Given the description of an element on the screen output the (x, y) to click on. 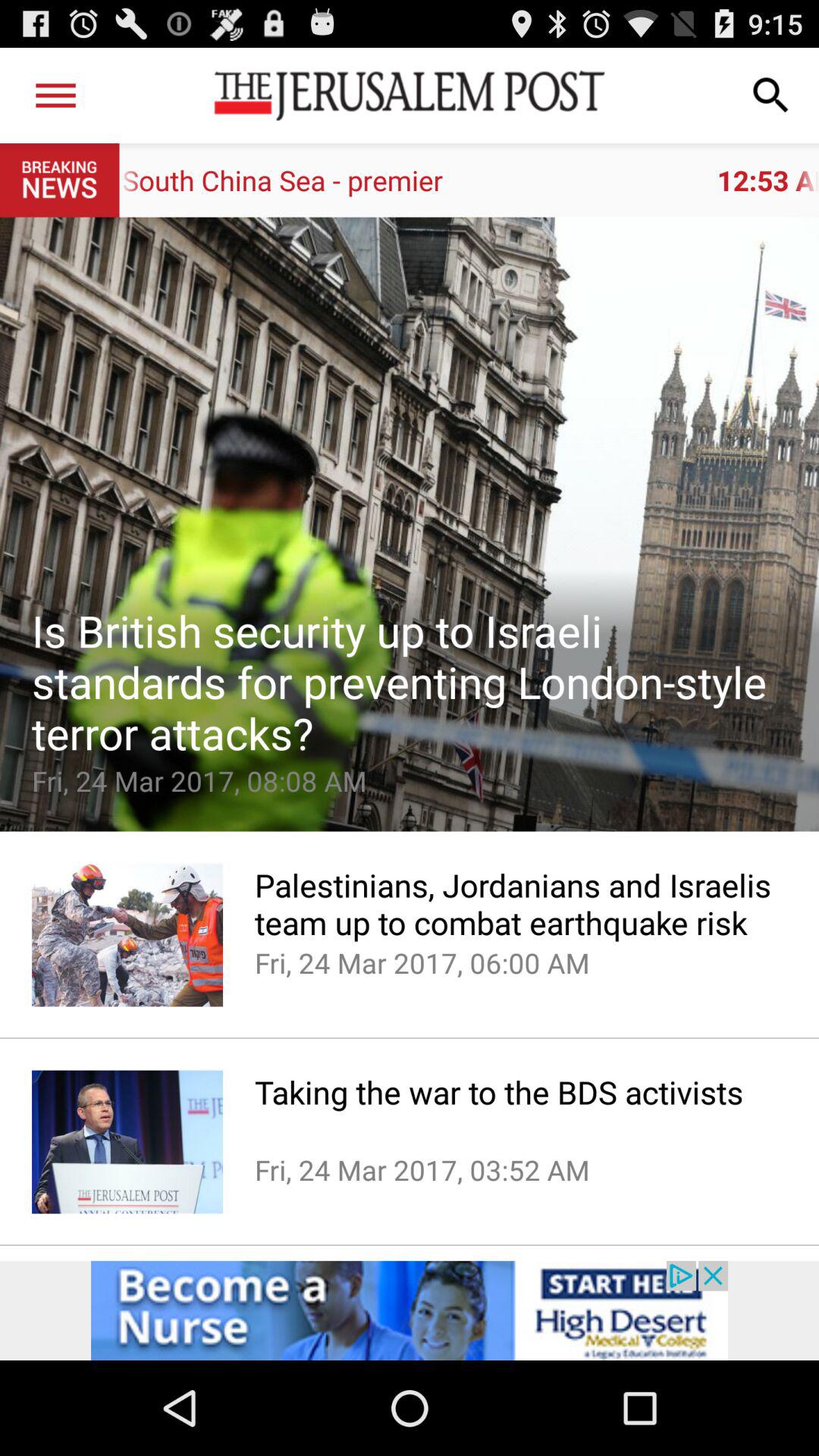
creat message (409, 524)
